Given the description of an element on the screen output the (x, y) to click on. 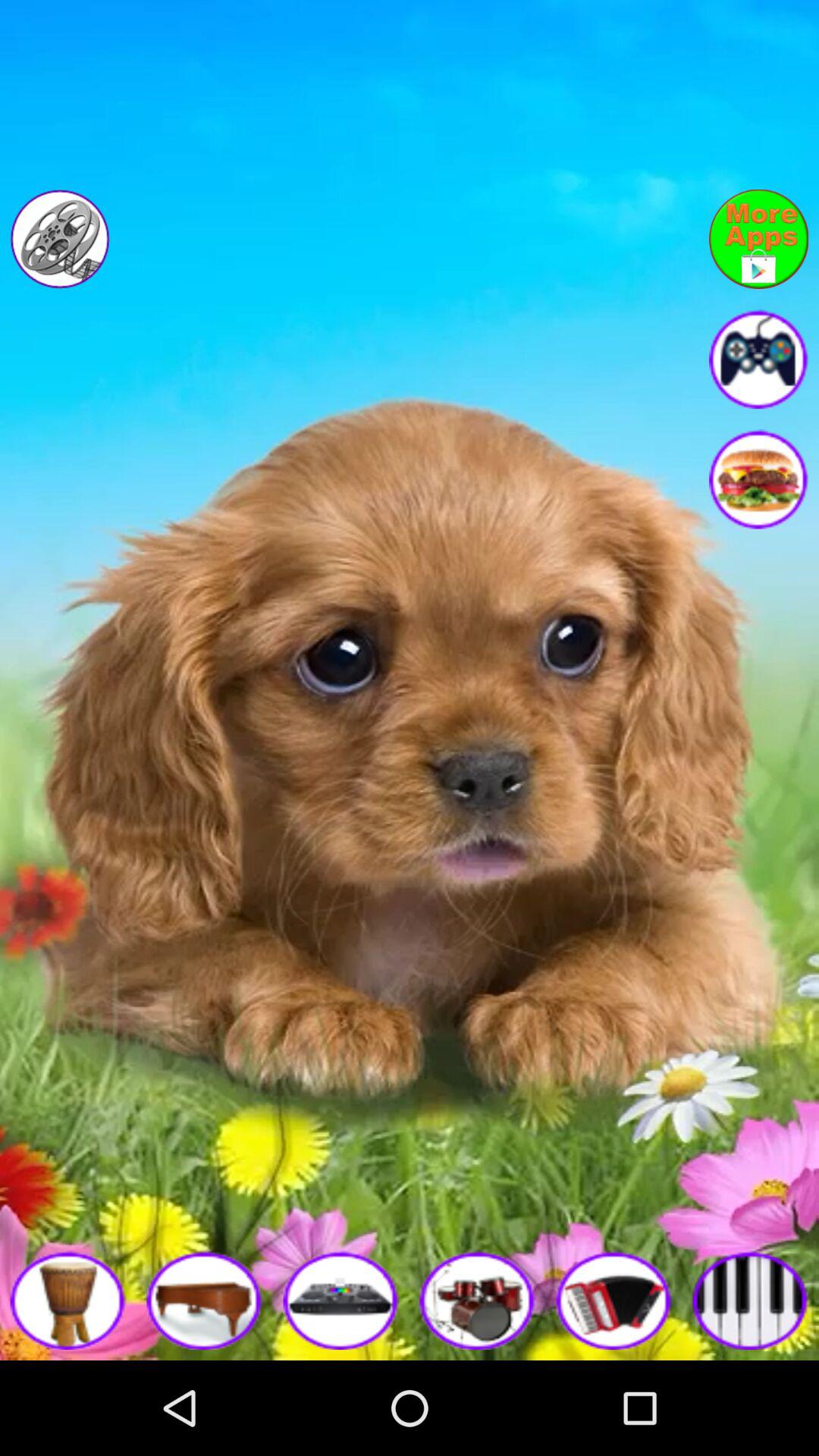
play piano (204, 1300)
